Given the description of an element on the screen output the (x, y) to click on. 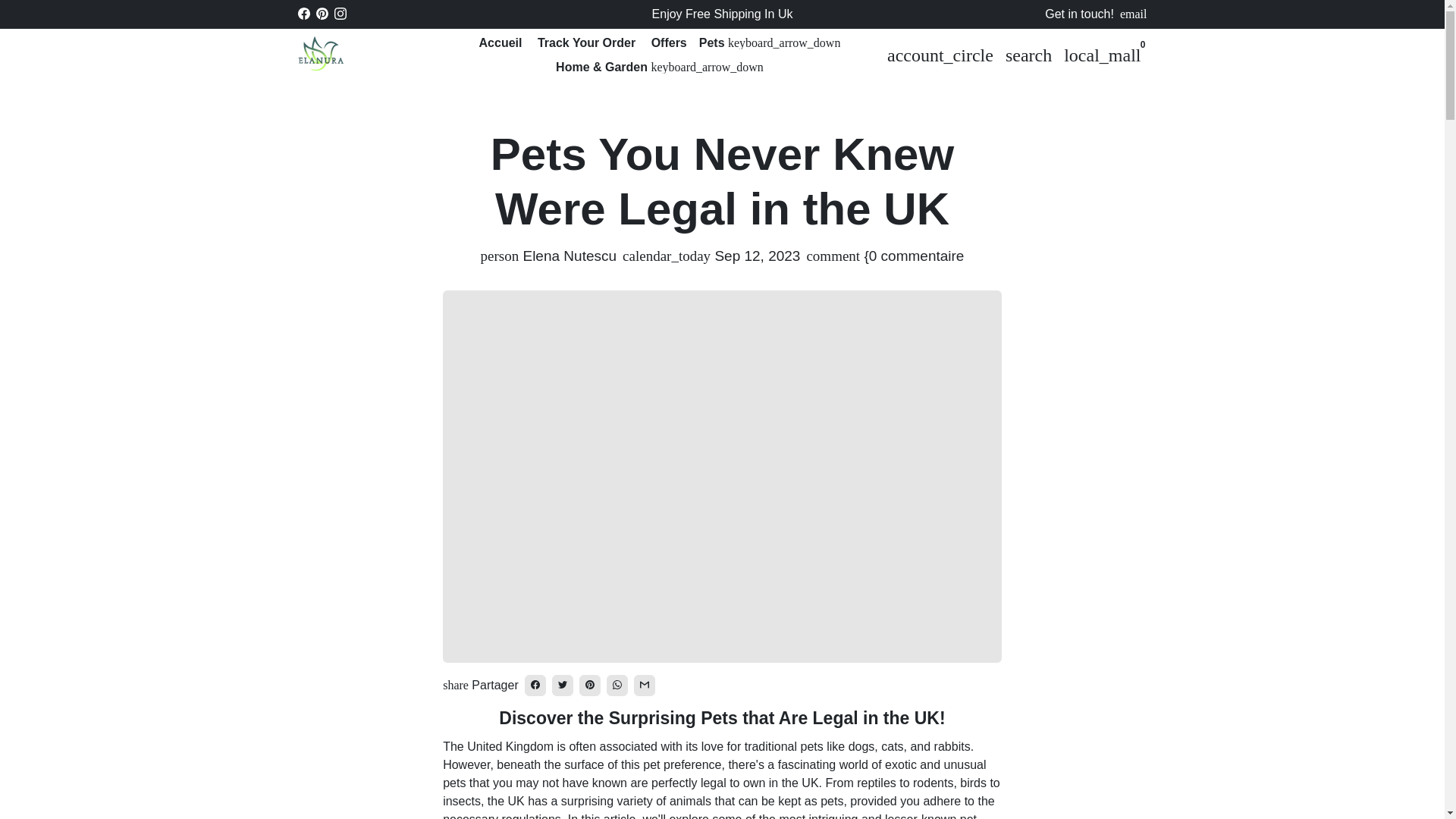
ElaNuRa sur Instagram (339, 13)
ElaNuRa sur Pinterest (321, 13)
ElaNuRa sur Facebook (302, 13)
